Given the description of an element on the screen output the (x, y) to click on. 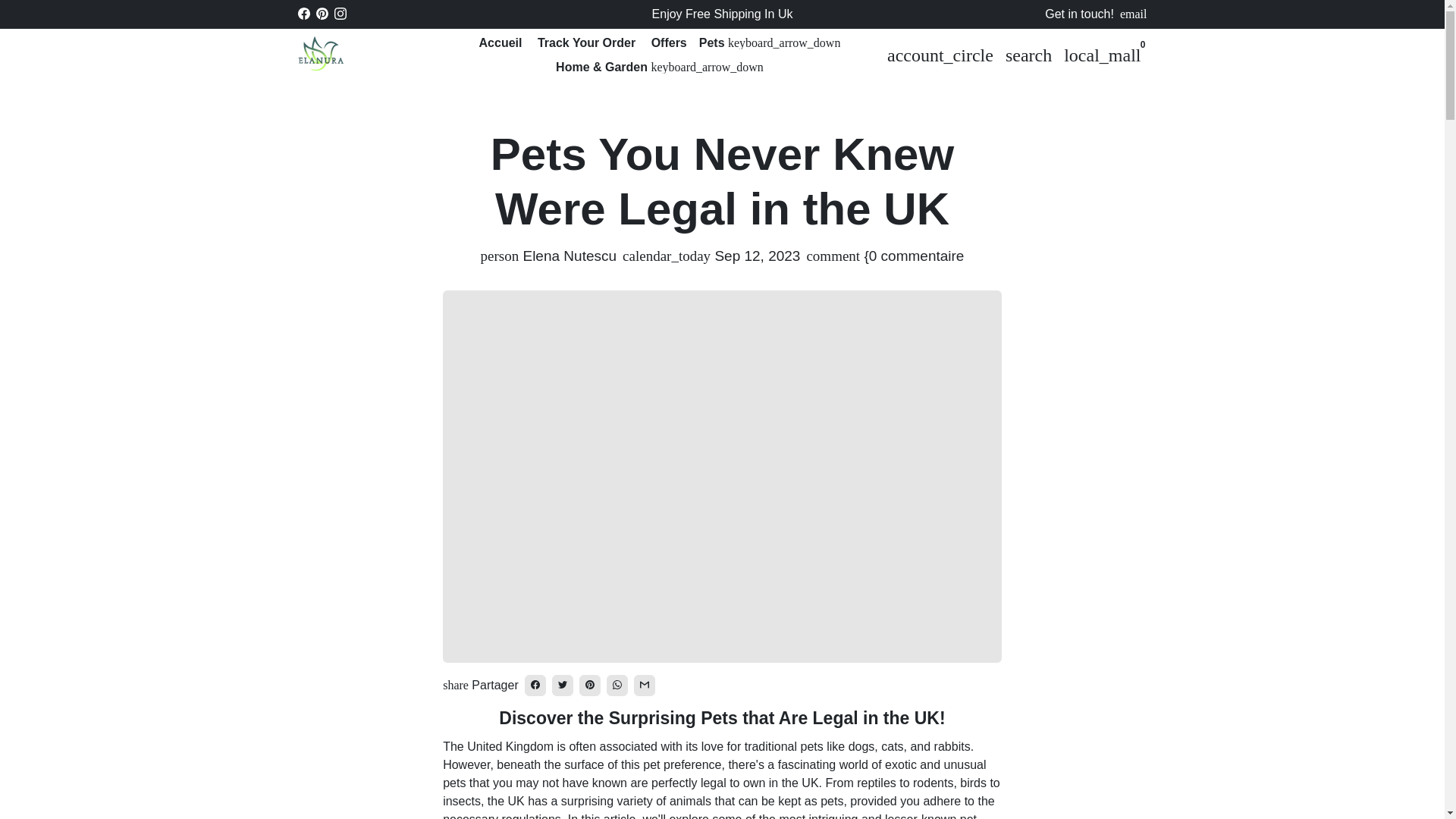
ElaNuRa sur Instagram (339, 13)
ElaNuRa sur Pinterest (321, 13)
ElaNuRa sur Facebook (302, 13)
